Given the description of an element on the screen output the (x, y) to click on. 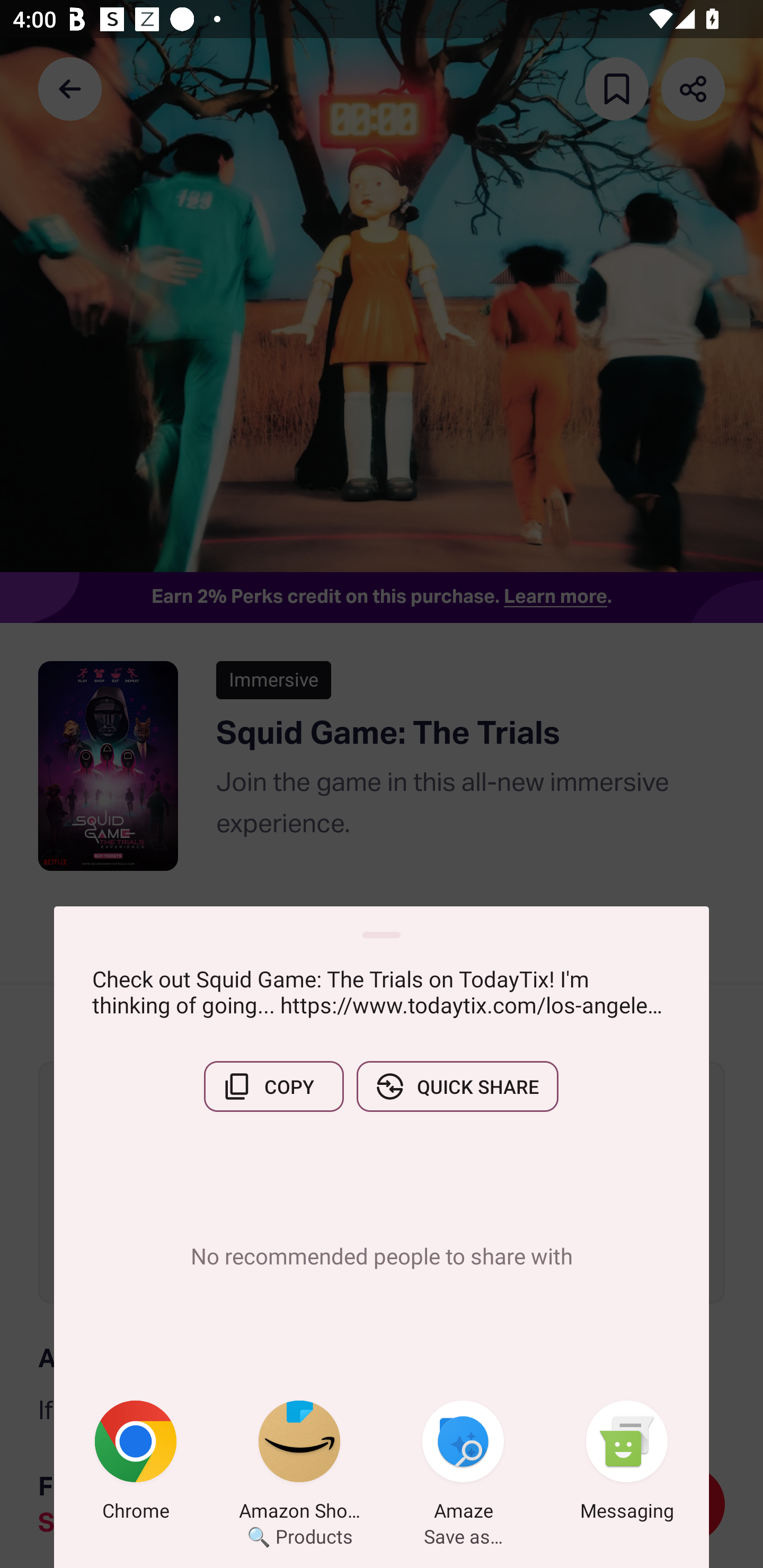
COPY (273, 1086)
QUICK SHARE (457, 1086)
Chrome (135, 1463)
Amazon Shopping 🔍 Products (299, 1463)
Amaze Save as… (463, 1463)
Messaging (626, 1463)
